Given the description of an element on the screen output the (x, y) to click on. 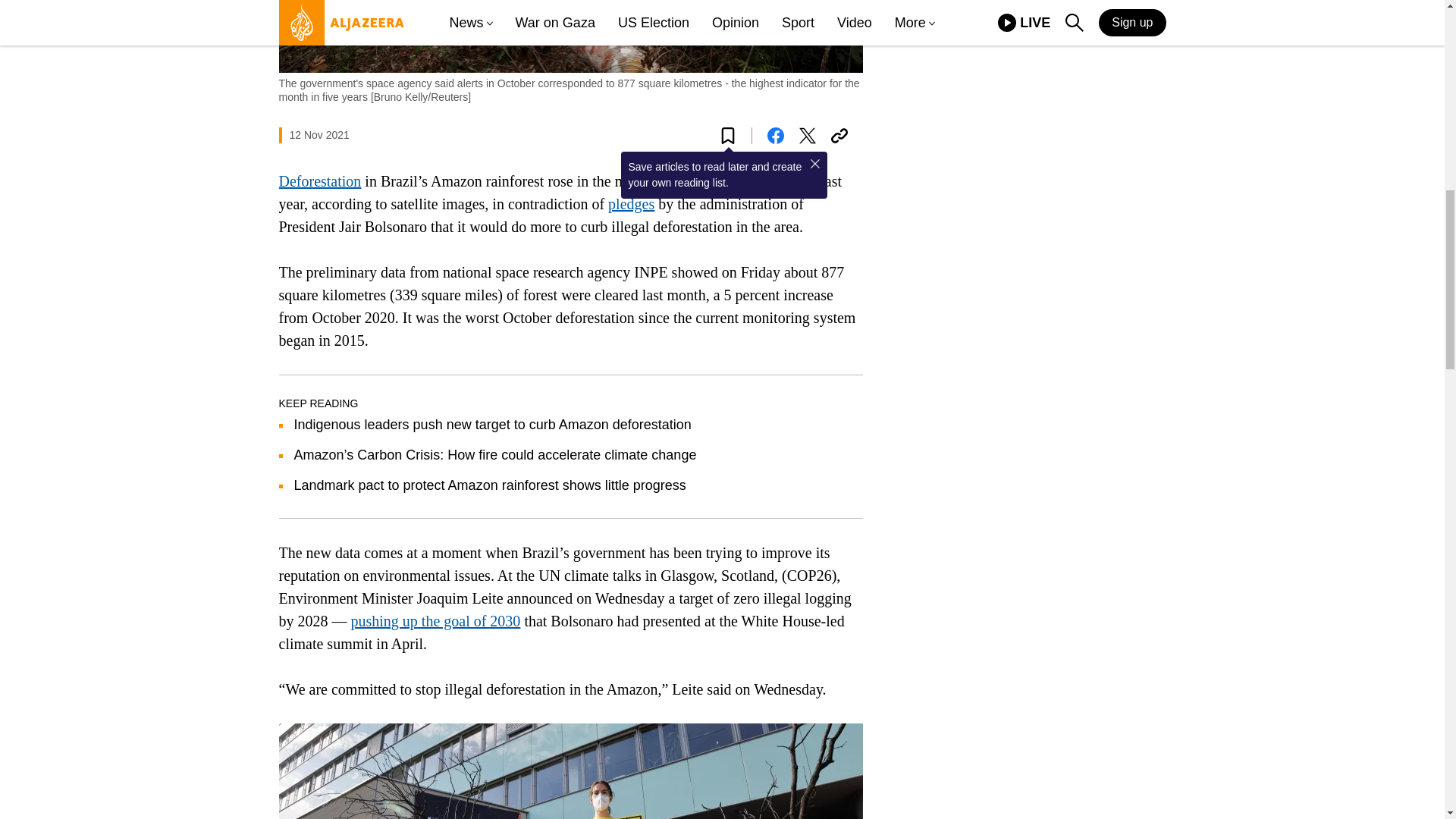
facebook (775, 135)
twitter (807, 135)
copylink (839, 135)
Deforestation (320, 180)
copylink (839, 135)
twitter (807, 135)
Close Tooltip (814, 163)
facebook (775, 135)
